Given the description of an element on the screen output the (x, y) to click on. 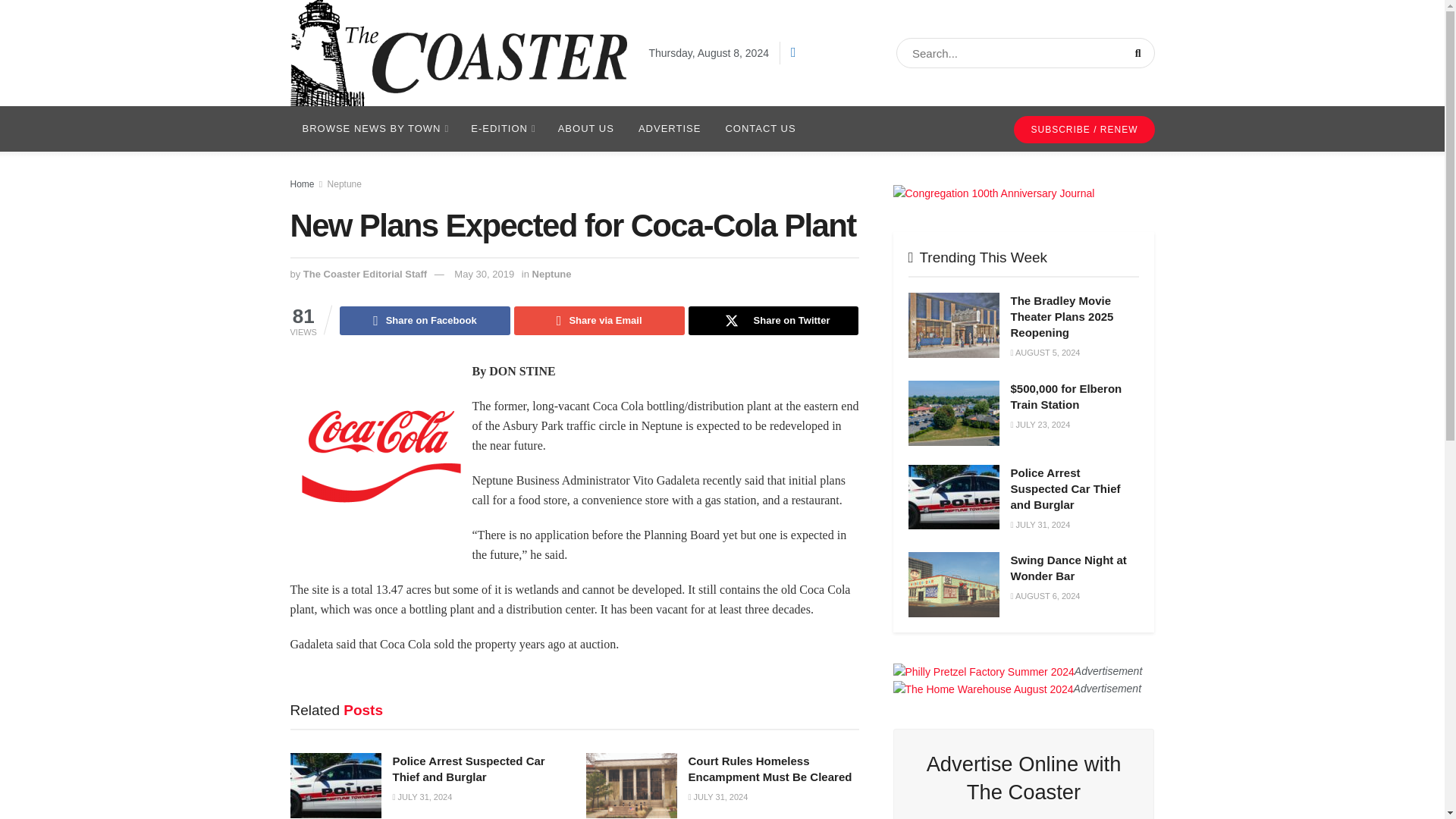
CONTACT US (760, 128)
ADVERTISE (669, 128)
Philly Pretzel Factory Summer 2024 (983, 671)
The Home Warehouse August 2024 (983, 688)
Congregation 100th Anniversary Journal (993, 192)
ABOUT US (586, 128)
BROWSE NEWS BY TOWN (373, 128)
E-EDITION (501, 128)
